Given the description of an element on the screen output the (x, y) to click on. 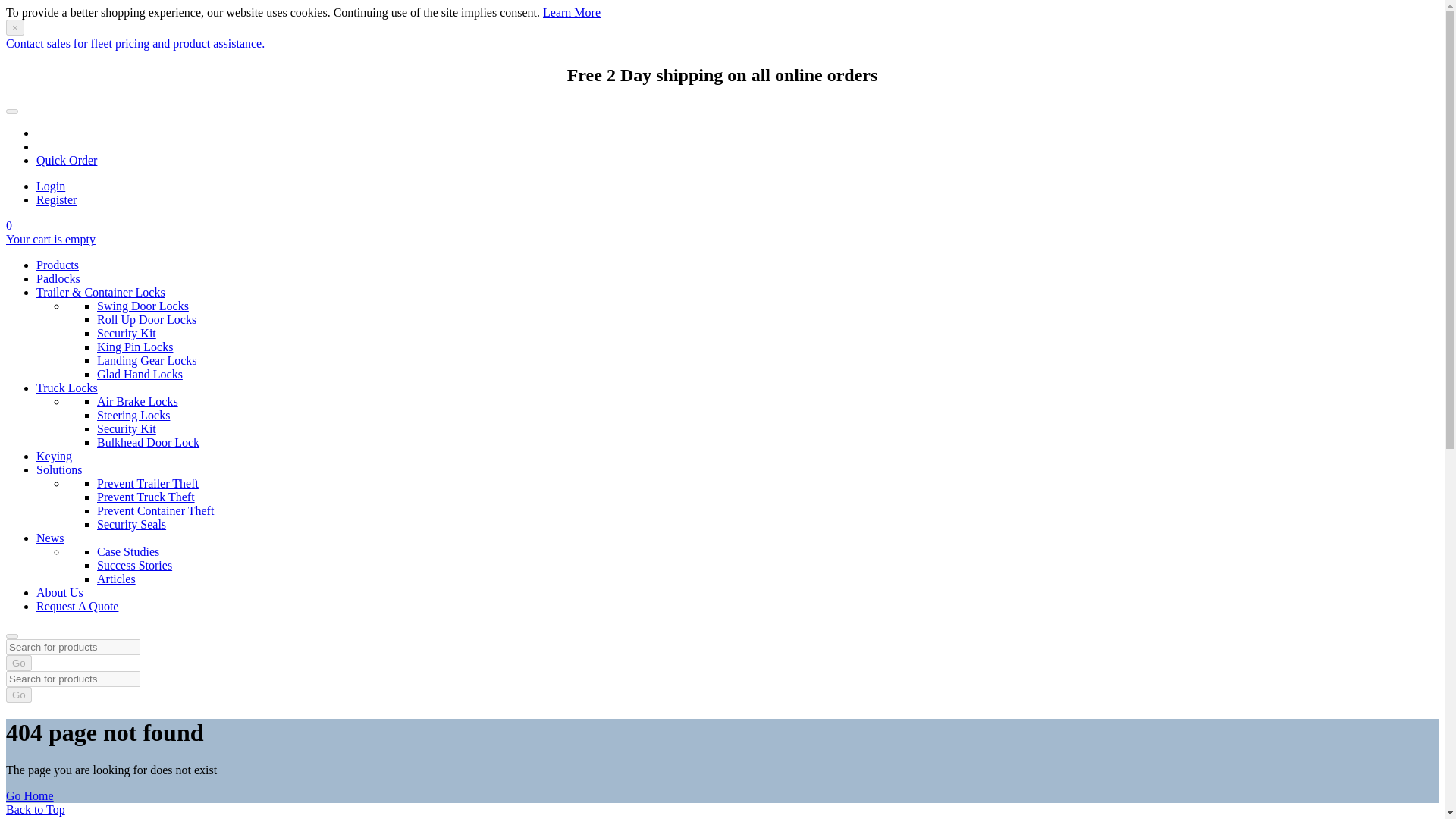
Request A Quote (76, 605)
Login (50, 185)
Keying (53, 455)
Search (11, 635)
Prevent Truck Theft (146, 496)
Security Kit (126, 332)
Success Stories (134, 564)
Contact sales for fleet pricing and product assistance. (134, 42)
Quick Order (66, 160)
Products (57, 264)
